Given the description of an element on the screen output the (x, y) to click on. 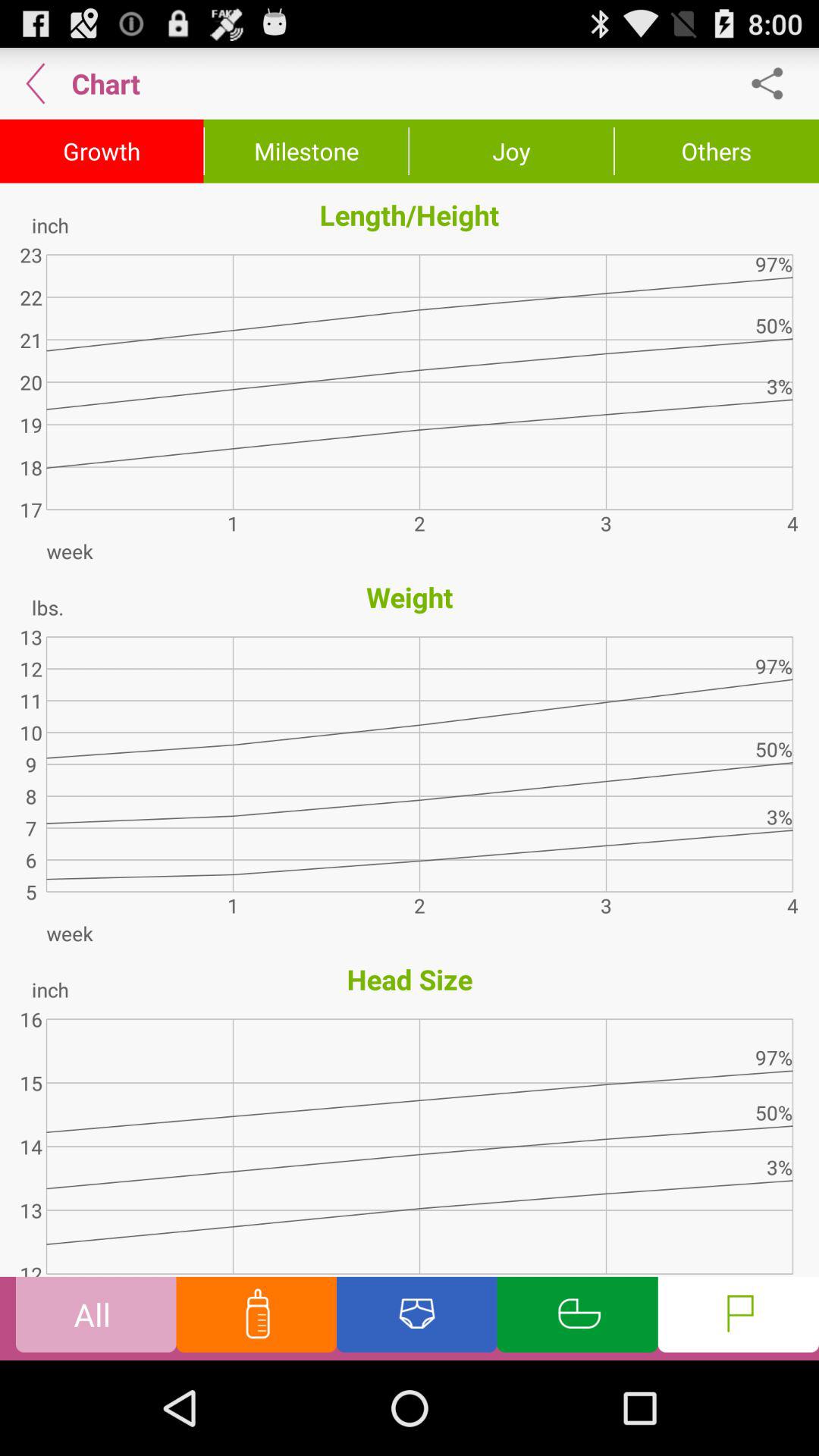
select item next to chart app (35, 83)
